Given the description of an element on the screen output the (x, y) to click on. 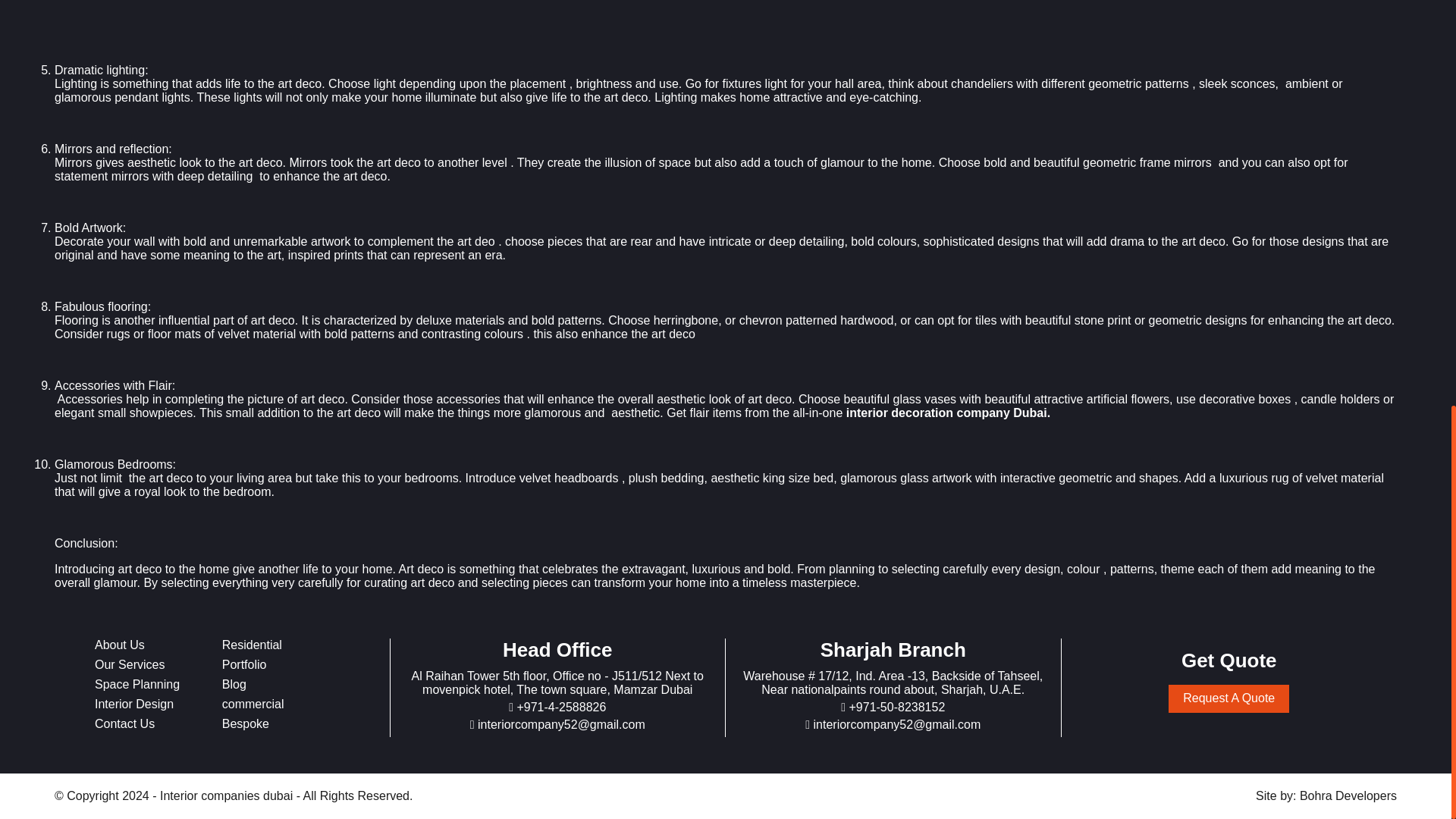
Residential (252, 644)
Blog (234, 684)
Bespoke (245, 723)
About Us (119, 644)
commercial (252, 703)
Portfolio (244, 664)
Space Planning (136, 684)
Contact Us (124, 723)
Our Services (129, 664)
Interior Design (133, 703)
